Given the description of an element on the screen output the (x, y) to click on. 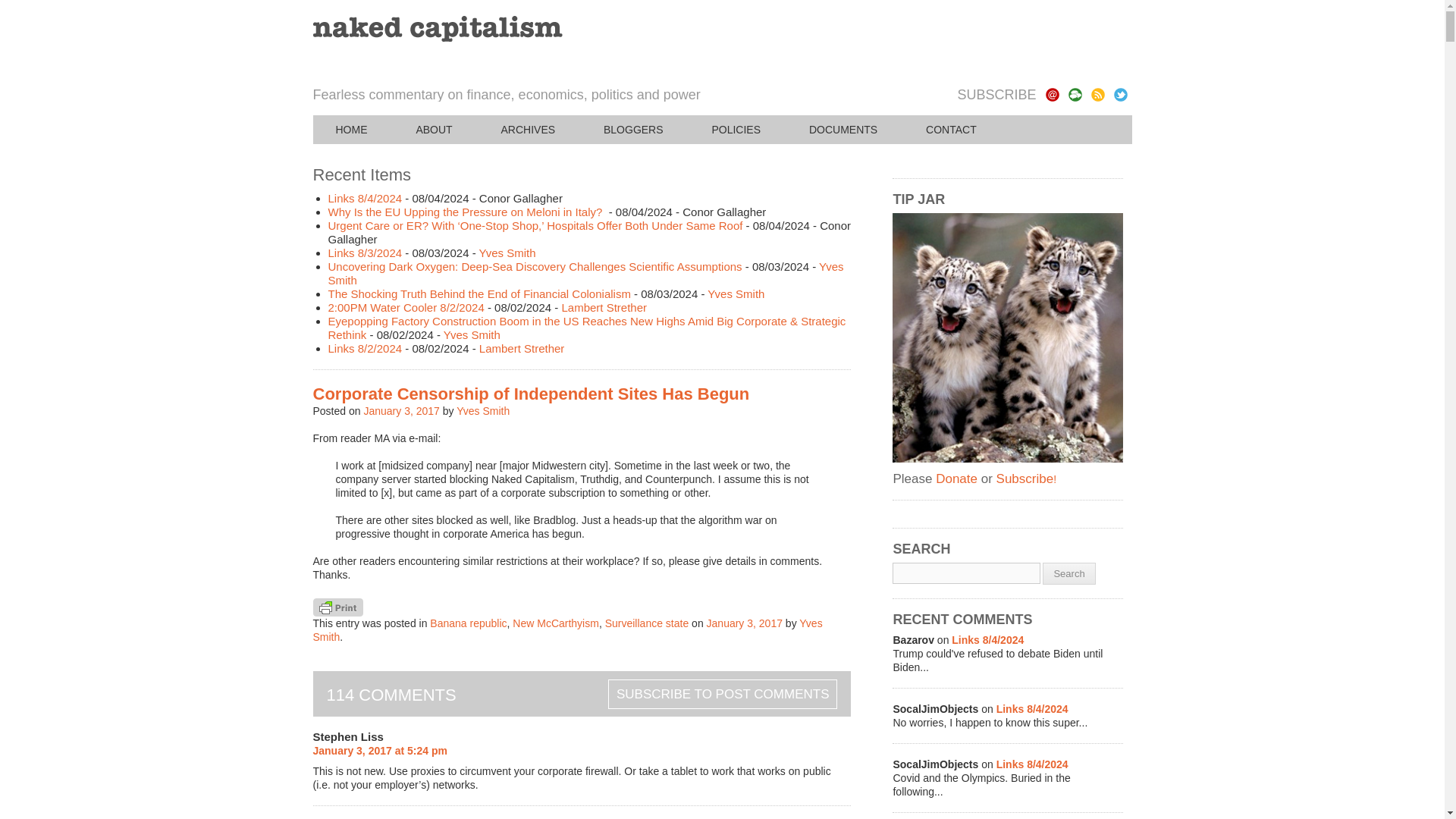
January 3, 2017 (400, 410)
Yves Smith (585, 273)
Lambert Strether (521, 348)
POLICIES (735, 129)
Search (1068, 573)
Why Is the EU Upping the Pressure on Meloni in Italy?  (466, 211)
DOCUMENTS (842, 129)
CONTACT (950, 129)
Lambert Strether (603, 307)
ABOUT (433, 129)
HOME (351, 129)
Follow yvessmith on Twitter (1119, 94)
BLOGGERS (632, 129)
Yves Smith (735, 293)
Feedburner RSS Feed (1096, 94)
